Given the description of an element on the screen output the (x, y) to click on. 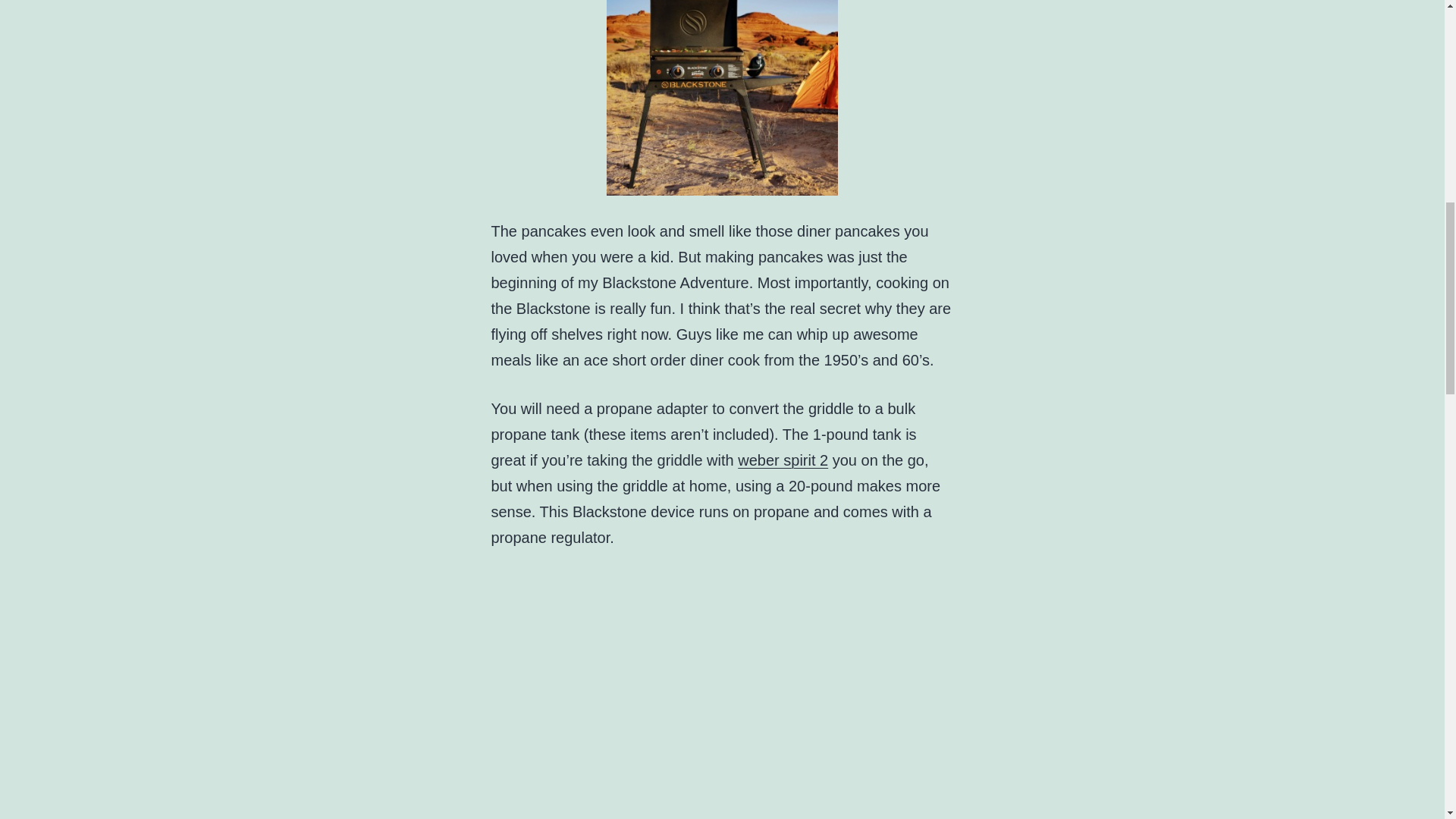
weber spirit 2 (783, 460)
